Given the description of an element on the screen output the (x, y) to click on. 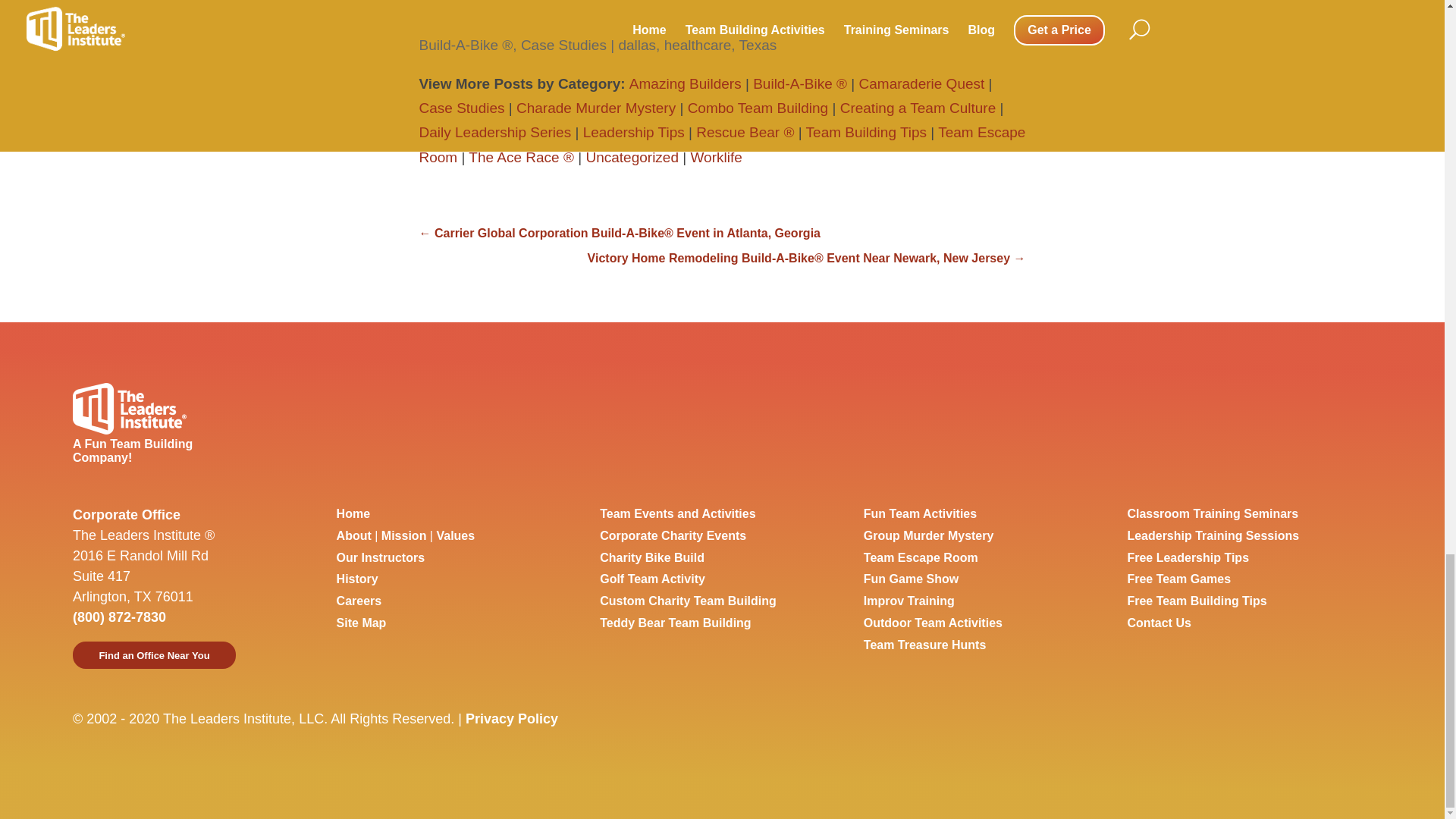
dallas (636, 44)
healthcare (697, 44)
Team Building Company (352, 513)
Case Studies (461, 107)
The Leaders Institute Mission Statement (403, 535)
Case Studies (564, 44)
About The Leaders Institute (353, 535)
Camaraderie Quest (922, 83)
Charade Murder Mystery (595, 107)
Amazing Builders (684, 83)
